Given the description of an element on the screen output the (x, y) to click on. 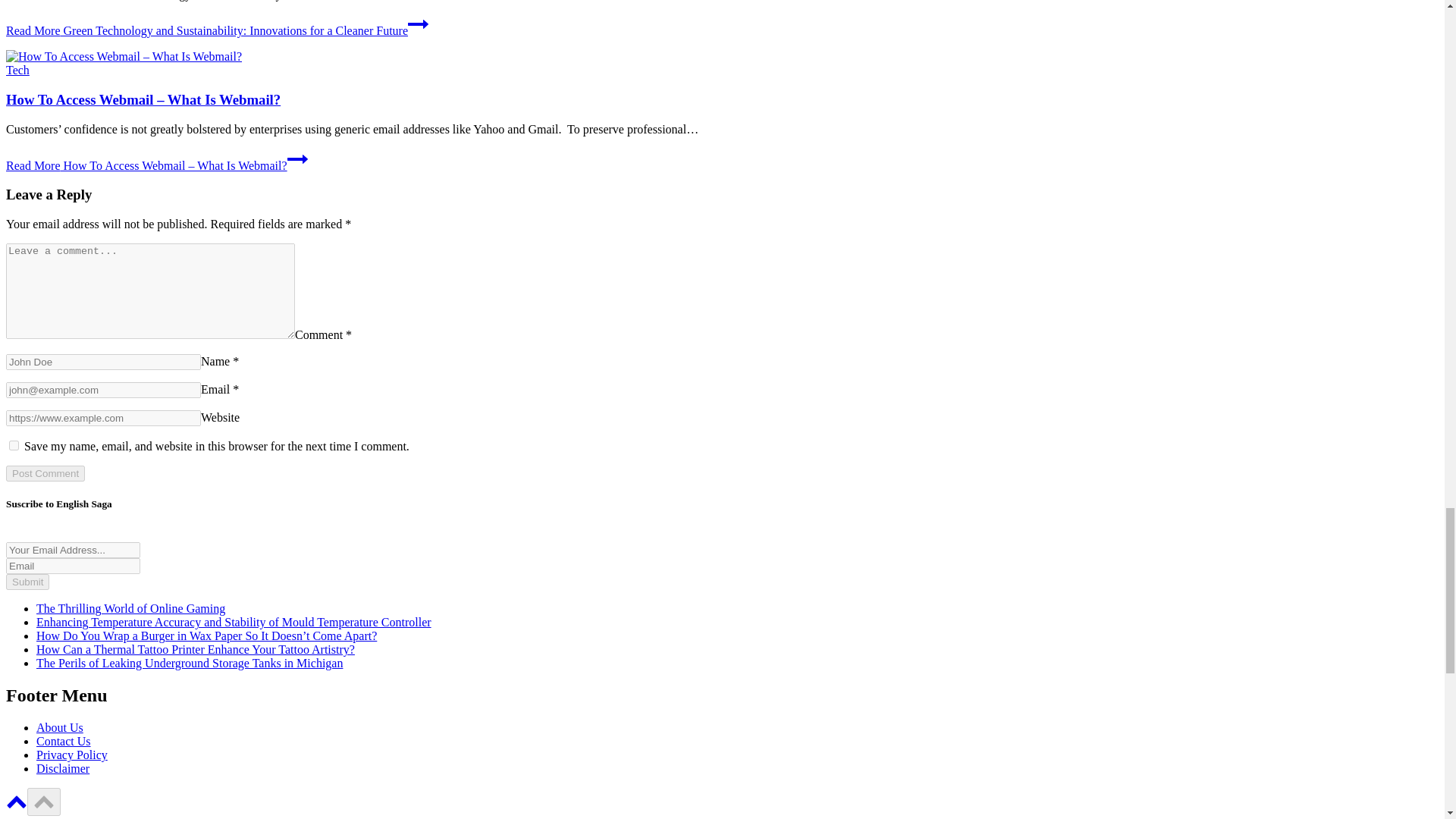
Scroll to top (44, 801)
Scroll to top (44, 800)
Scroll to top (16, 807)
yes (13, 445)
Post Comment (44, 473)
Continue (417, 24)
Scroll to top (16, 800)
Continue (296, 158)
